Given the description of an element on the screen output the (x, y) to click on. 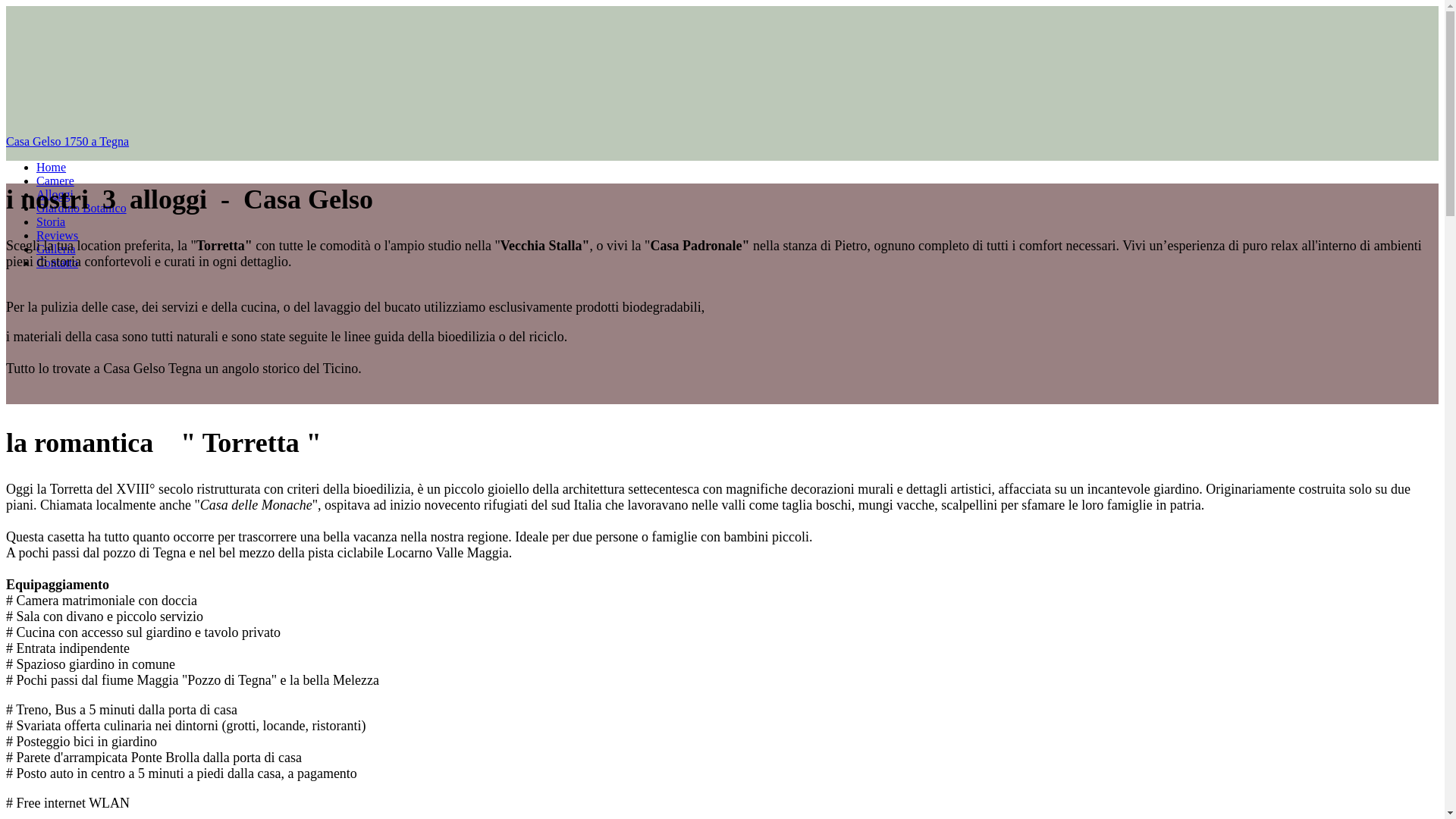
Galleria Element type: text (55, 248)
Contatto Element type: text (57, 262)
Alloggi Element type: text (54, 194)
Reviews Element type: text (57, 235)
Camere Element type: text (55, 180)
Storia Element type: text (50, 221)
Giardino Botanico Element type: text (81, 207)
Casa Gelso 1750 a Tegna Element type: text (722, 141)
Home Element type: text (50, 166)
